Given the description of an element on the screen output the (x, y) to click on. 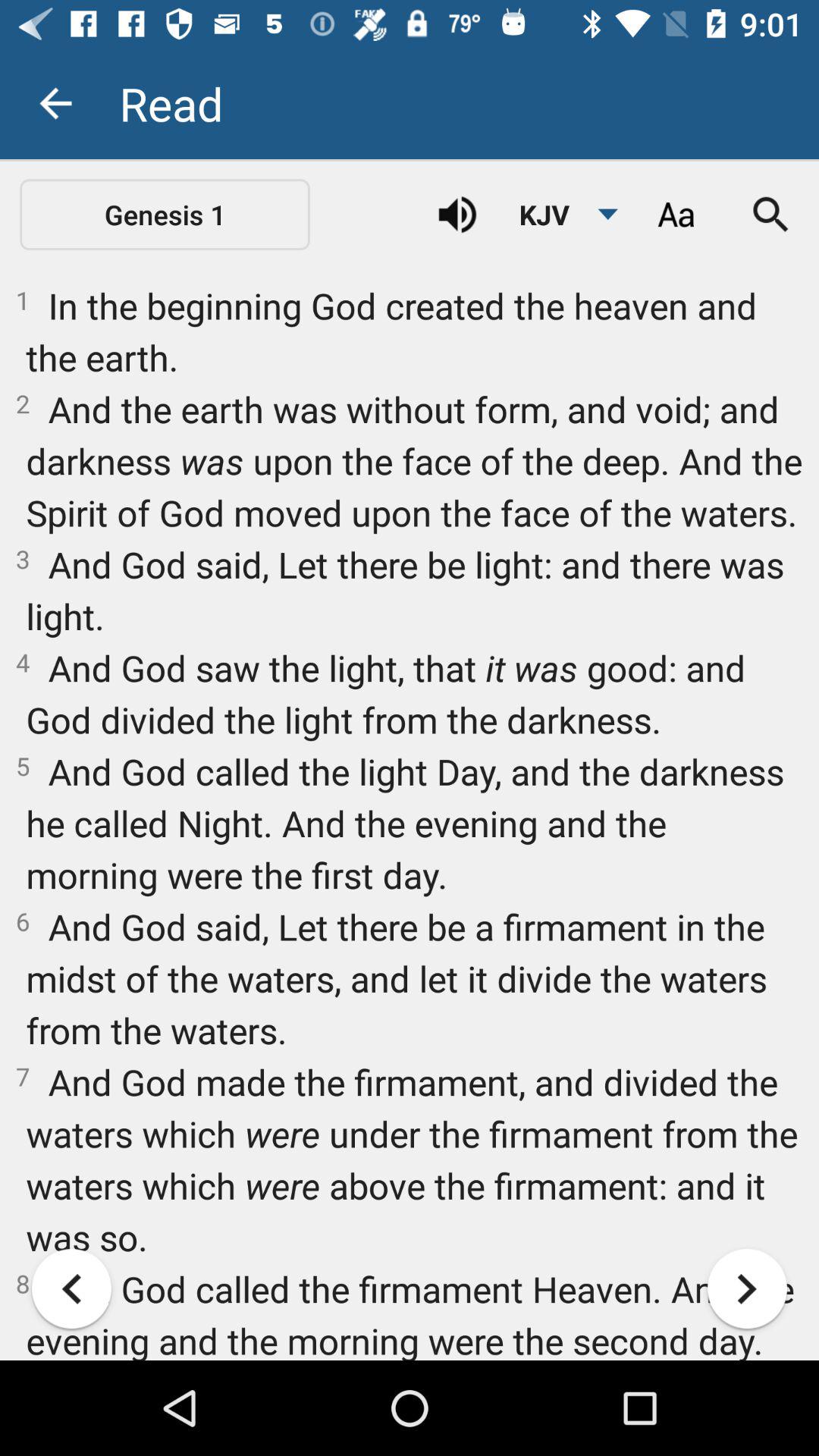
tap item at the bottom right corner (747, 1288)
